Given the description of an element on the screen output the (x, y) to click on. 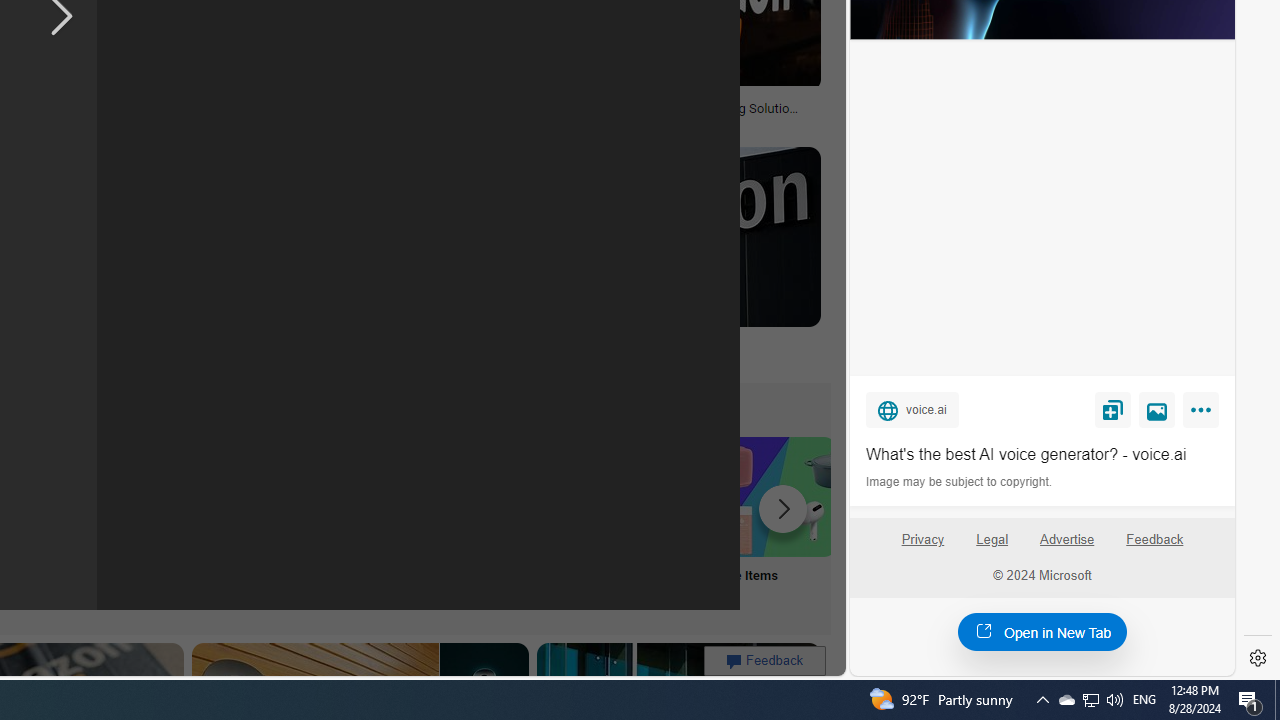
Save (1112, 409)
3d illustration of amazon logo 18779928 PNG (371, 114)
cordcuttersnews.com (331, 359)
Mini TV (116, 521)
Amazon Online Shopping Homepage Online Shopping Homepage (248, 521)
Prime Shopping Online (380, 521)
Scroll more suggestions right (783, 508)
Amazon Prime Label (511, 496)
Prime Label (511, 521)
